Given the description of an element on the screen output the (x, y) to click on. 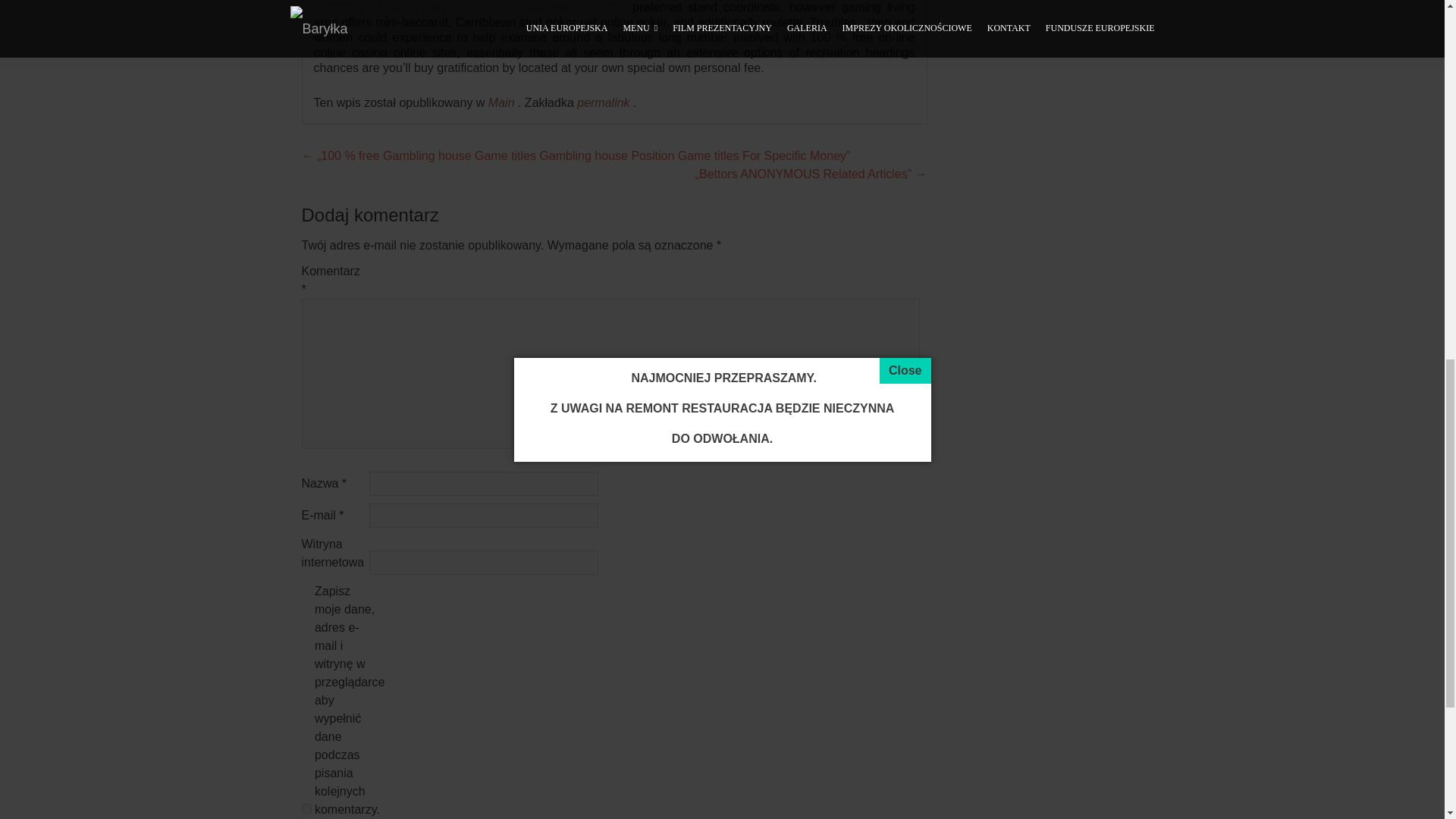
Main (501, 102)
yes (306, 808)
permalink (604, 102)
